Given the description of an element on the screen output the (x, y) to click on. 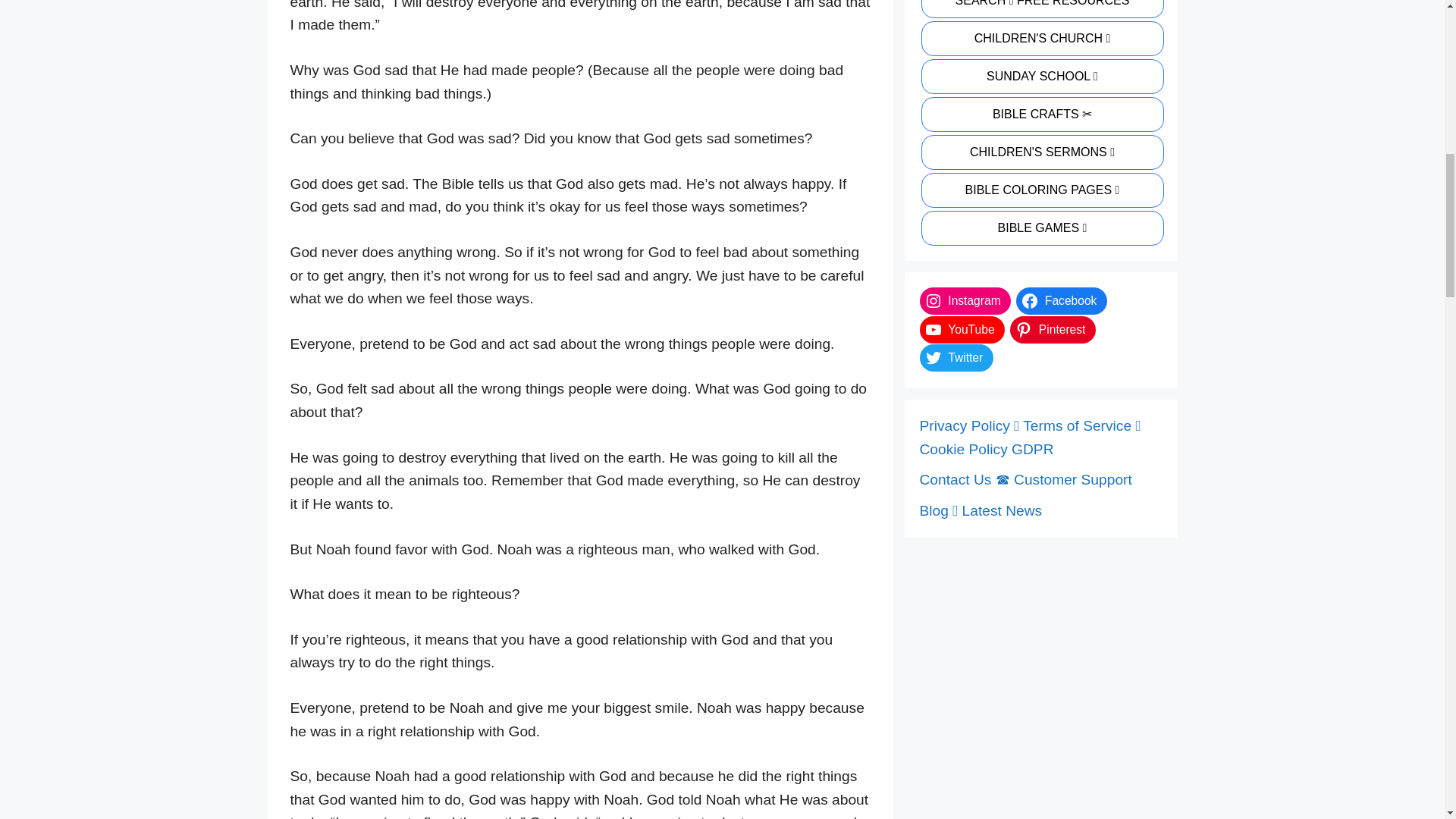
bible crafts (1039, 114)
children's church curriculum (1039, 38)
sunday school lessons (1039, 76)
free children's ministry downloads (1039, 9)
